Given the description of an element on the screen output the (x, y) to click on. 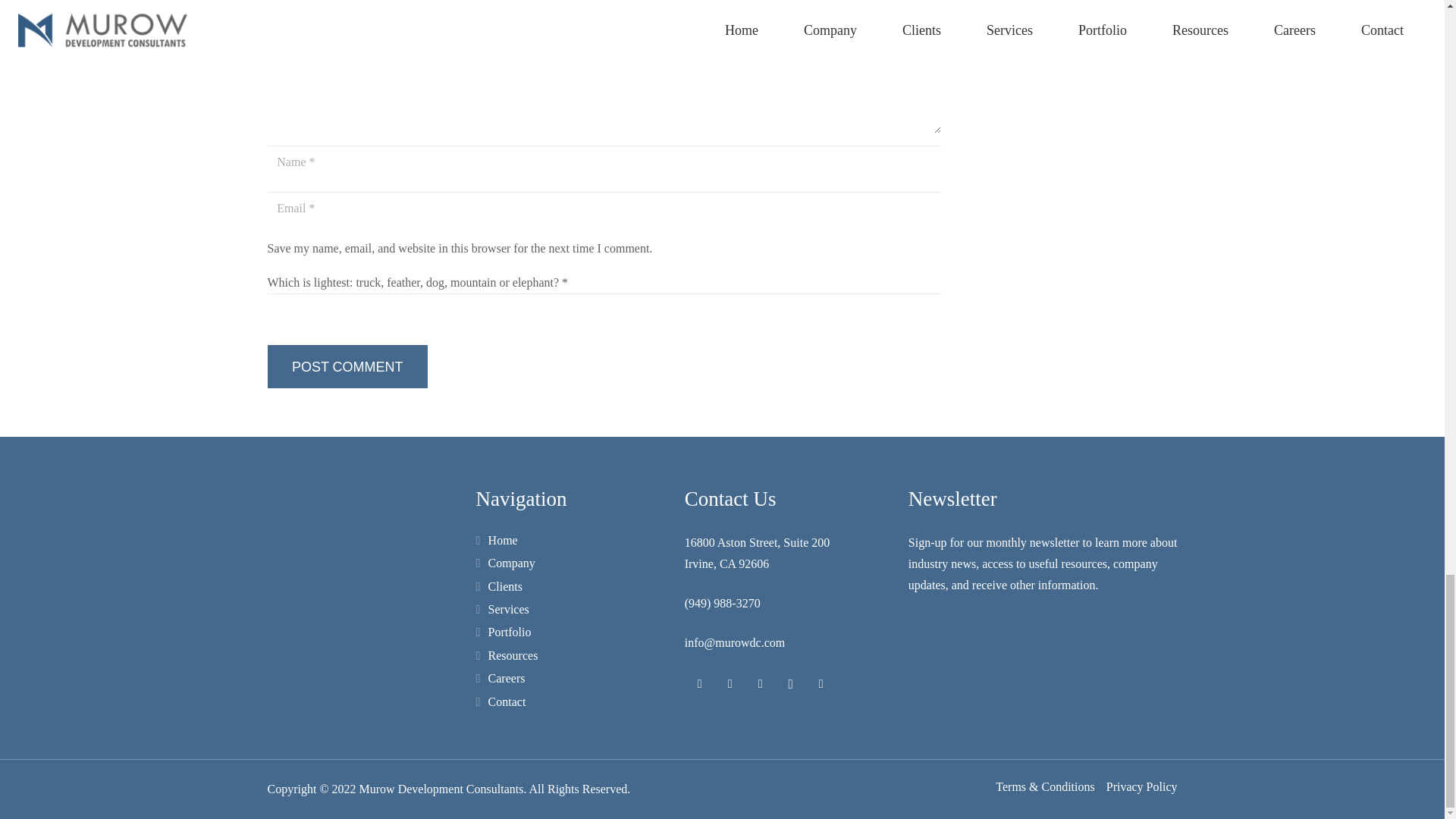
Twitter (729, 684)
POST COMMENT (346, 366)
Facebook (699, 684)
1 (273, 248)
YouTube (760, 684)
LinkedIn (820, 684)
Instagram (791, 684)
